Given the description of an element on the screen output the (x, y) to click on. 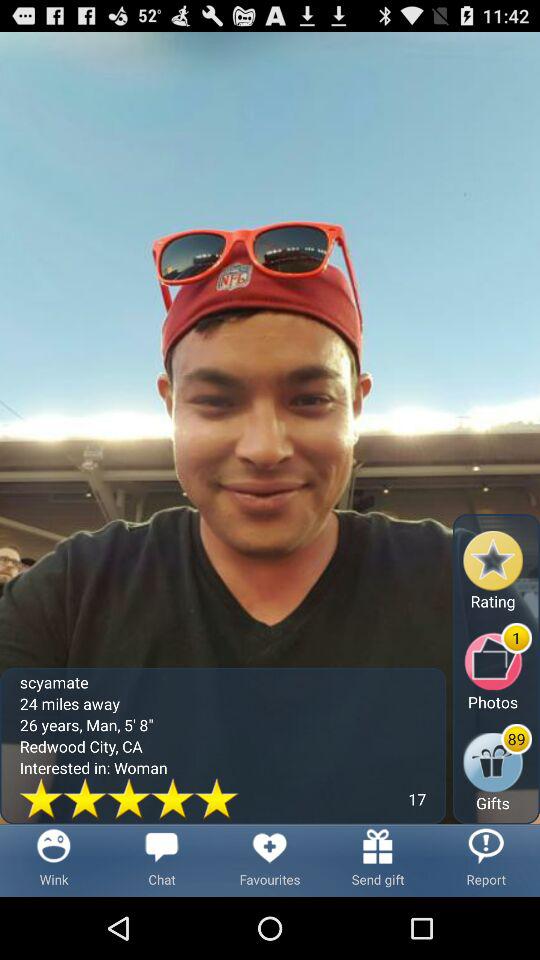
open icon to the right of 24 miles away item (498, 767)
